Given the description of an element on the screen output the (x, y) to click on. 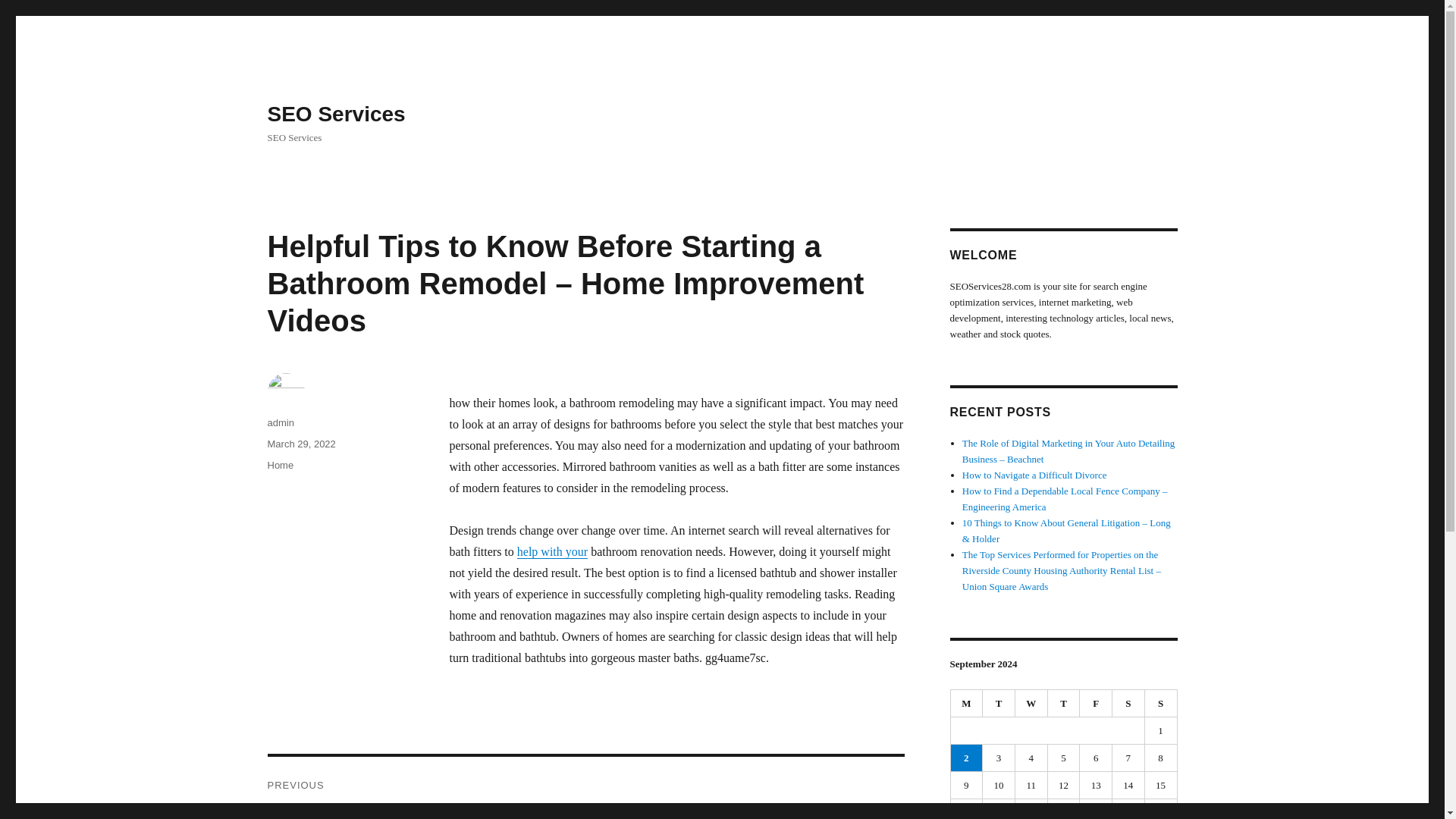
help with your (552, 551)
SEO Services (335, 114)
Home (280, 464)
How to Navigate a Difficult Divorce (1034, 474)
Thursday (1064, 703)
admin (280, 422)
Sunday (1160, 703)
Wednesday (1031, 703)
Tuesday (998, 703)
March 29, 2022 (300, 443)
